Given the description of an element on the screen output the (x, y) to click on. 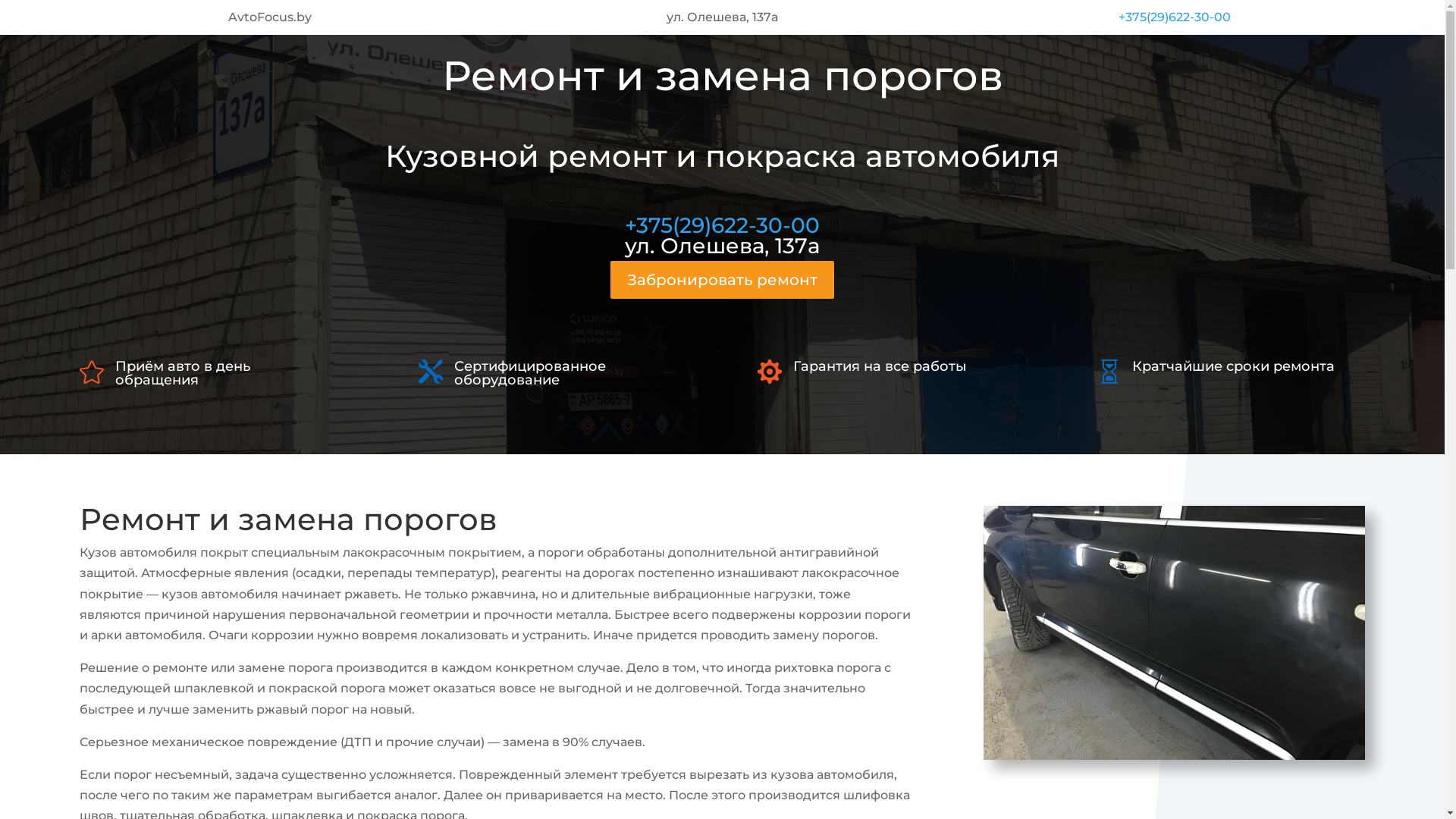
+375(29)622-30-00 Element type: text (1174, 16)
+375(29)622-30-00 Element type: text (721, 225)
